Given the description of an element on the screen output the (x, y) to click on. 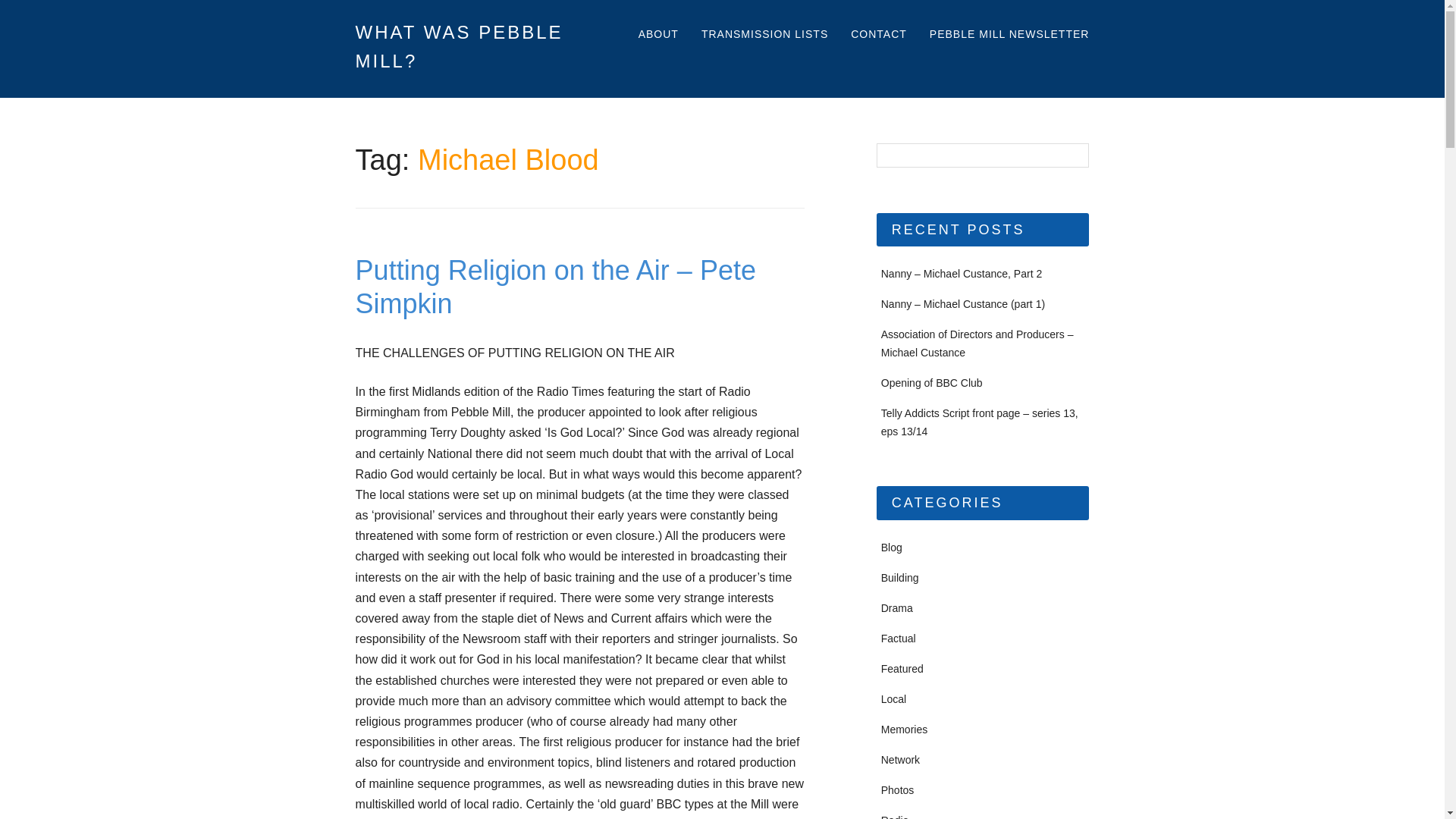
Photos (897, 789)
What Was Pebble Mill? (459, 46)
Blog (891, 547)
CONTACT (878, 34)
Local (892, 698)
PEBBLE MILL NEWSLETTER (1009, 34)
Drama (896, 607)
Memories (903, 729)
Search (22, 8)
ABOUT (657, 34)
